Given the description of an element on the screen output the (x, y) to click on. 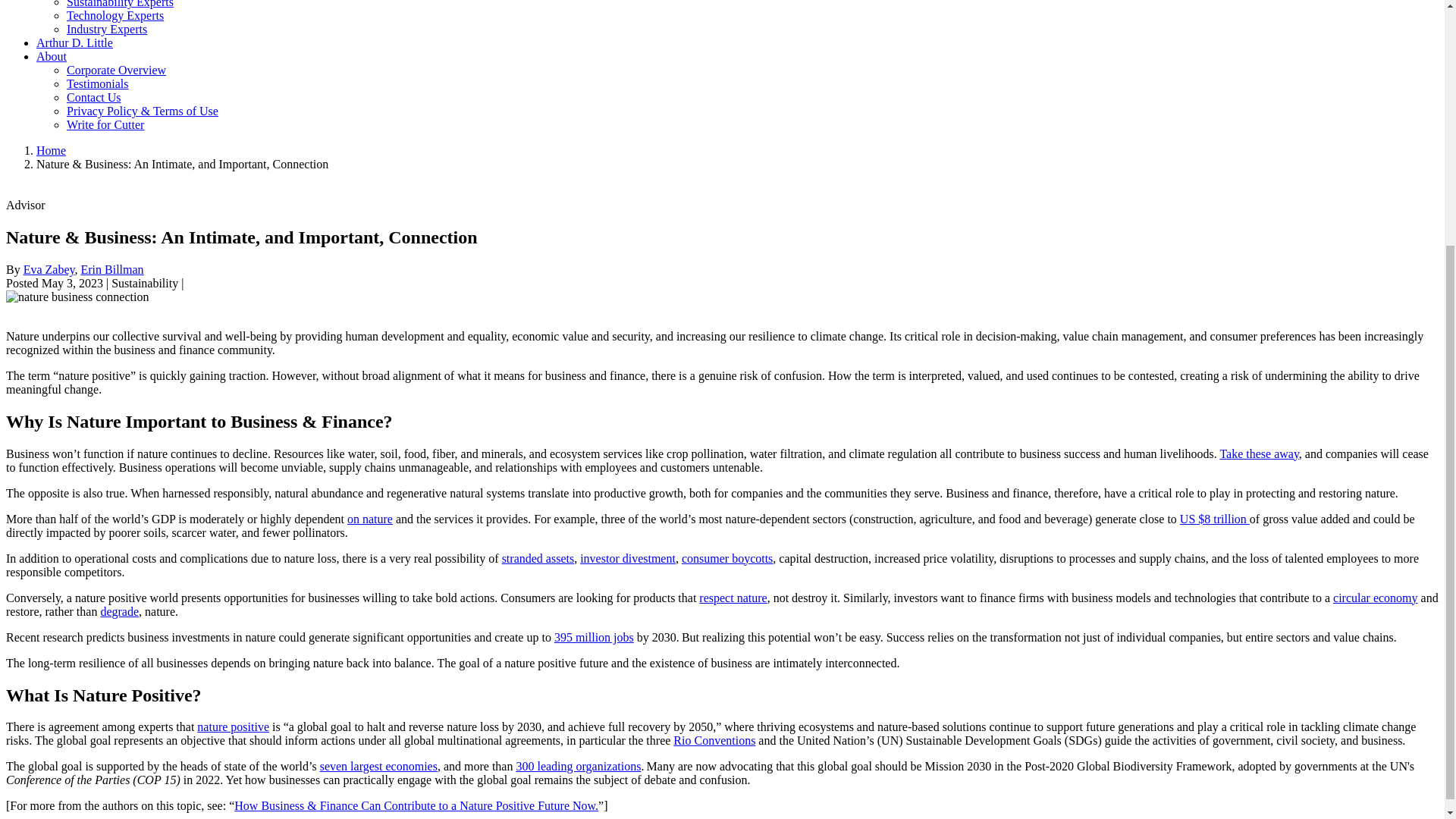
Testimonials (97, 83)
Contact Us (93, 97)
Home (50, 150)
Take these away (1259, 453)
Industry Experts (106, 29)
Write for Cutter (105, 124)
Corporate Overview (115, 69)
Sustainability Experts (119, 4)
Arthur D. Little (74, 42)
About (51, 56)
Editorial Guidelines (105, 124)
Eva Zabey (49, 269)
Technology Experts (114, 15)
Erin Billman (111, 269)
